Given the description of an element on the screen output the (x, y) to click on. 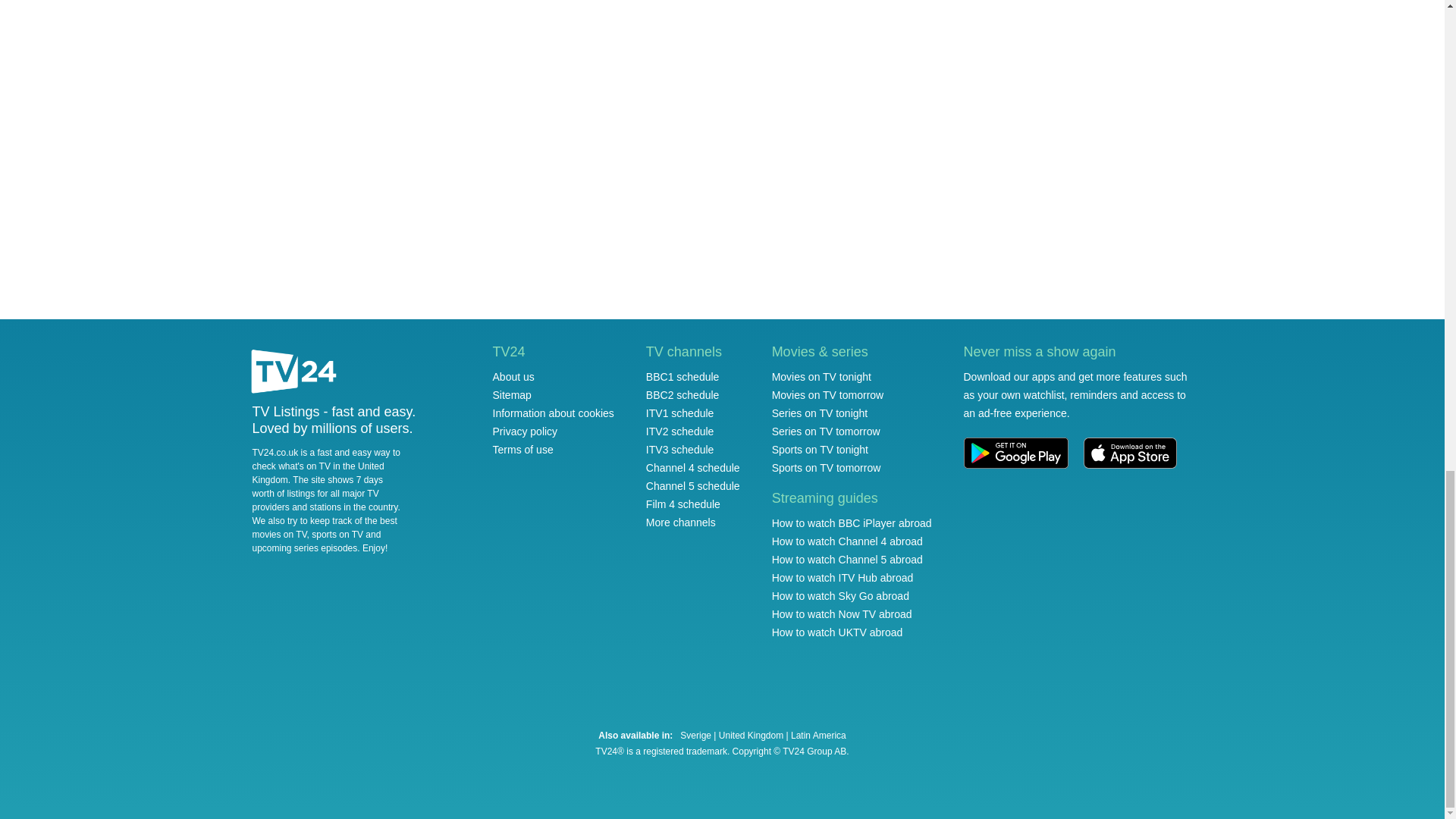
Terms of use (523, 449)
ITV2 schedule (680, 431)
upcoming series episodes (303, 547)
ITV2 schedule (680, 431)
ITV3 schedule (680, 449)
ITV1 schedule (680, 413)
Sitemap (512, 395)
Privacy policy (525, 431)
BBC1 schedule (682, 377)
Channel 4 schedule (692, 467)
Channel 5 schedule (692, 485)
the best movies on TV (323, 527)
ITV1 schedule (680, 413)
ITV3 schedule (680, 449)
Film 4 schedule (683, 503)
